Given the description of an element on the screen output the (x, y) to click on. 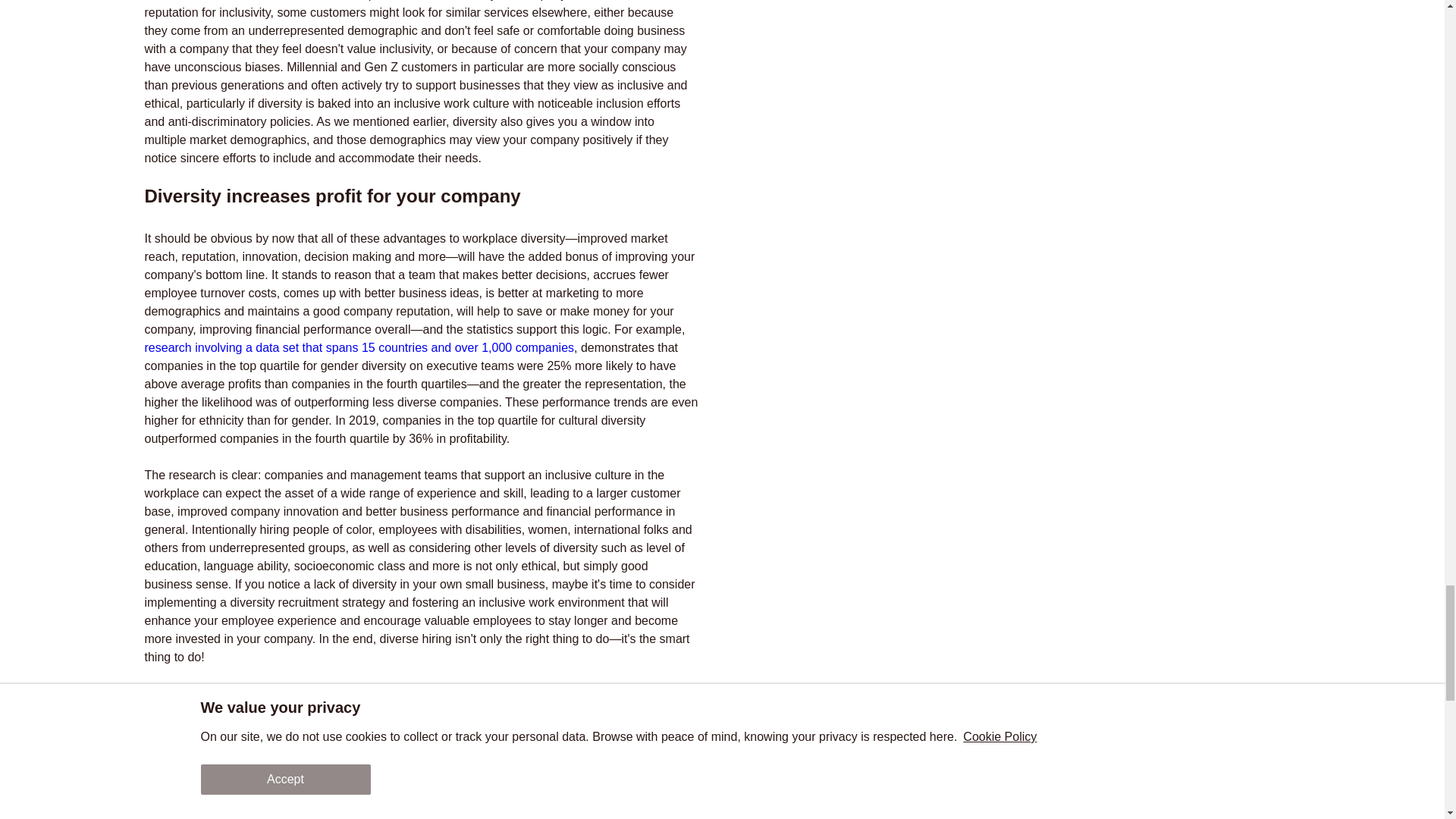
Facebook (467, 741)
LinkedIn (375, 741)
Twitter (319, 741)
B2BeeMatch (260, 790)
